Given the description of an element on the screen output the (x, y) to click on. 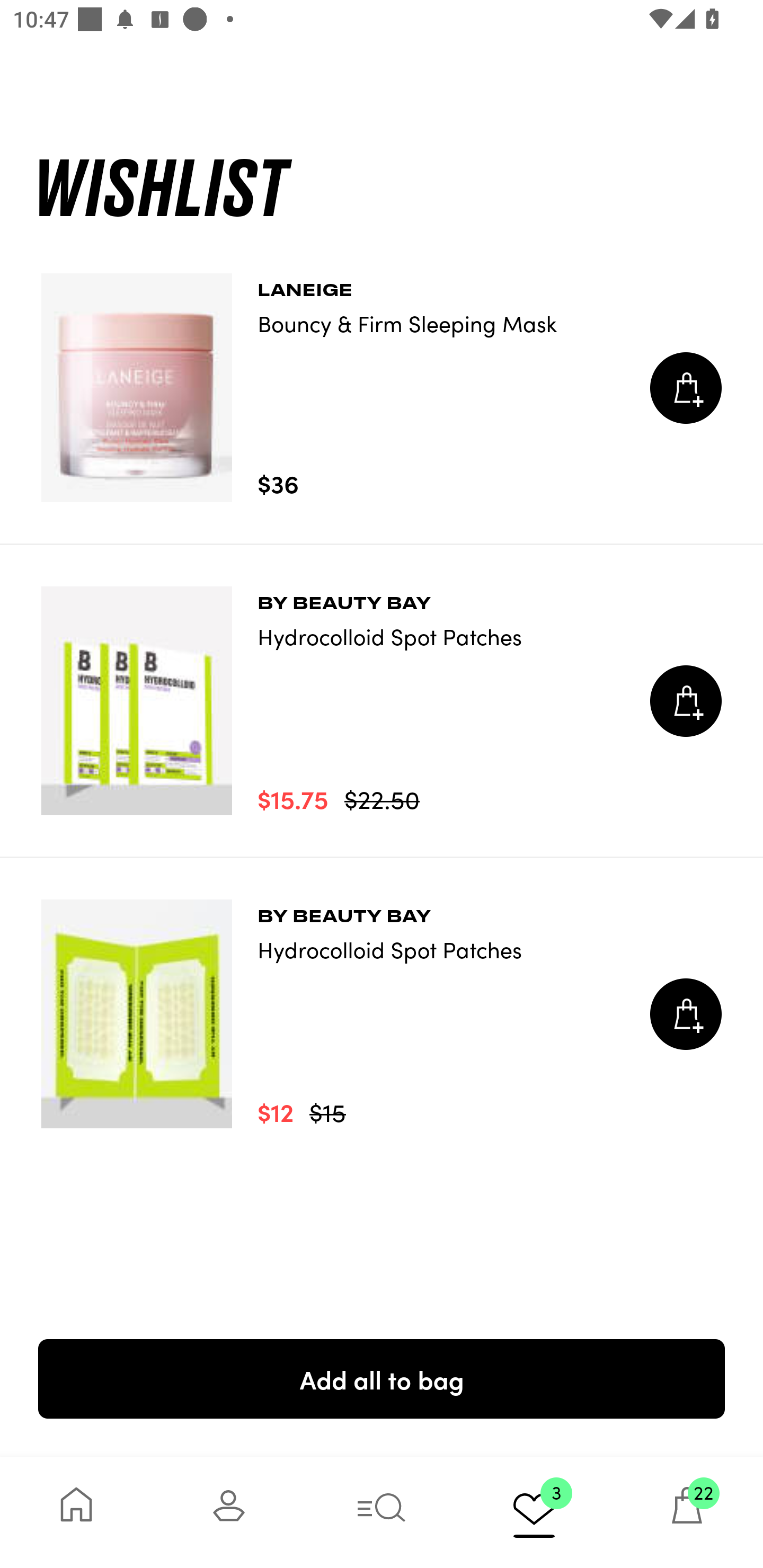
LANEIGE Bouncy & Firm Sleeping Mask $36 (381, 388)
BY BEAUTY BAY Hydrocolloid Spot Patches $12 $15 (381, 1013)
Add all to bag (381, 1379)
3 (533, 1512)
22 (686, 1512)
